Given the description of an element on the screen output the (x, y) to click on. 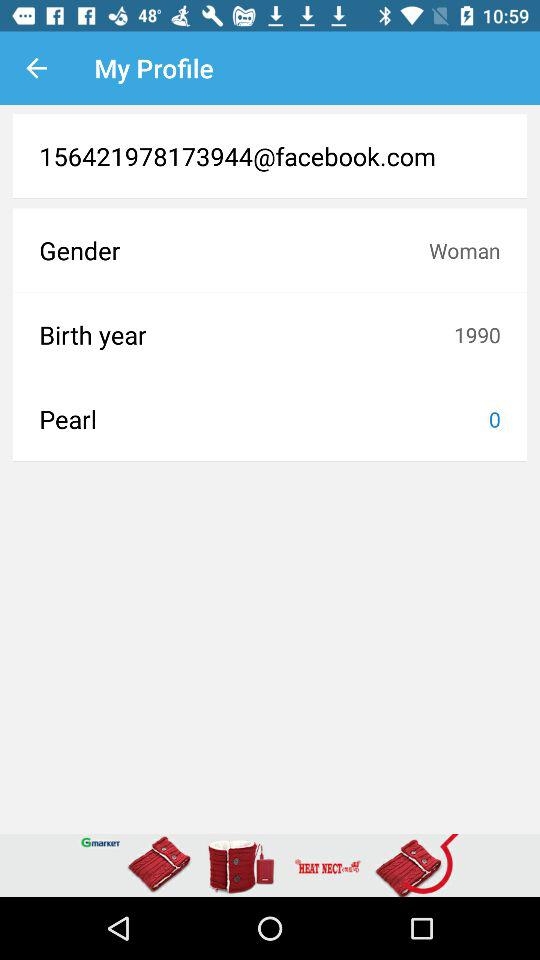
open the item above birth year item (464, 250)
